Given the description of an element on the screen output the (x, y) to click on. 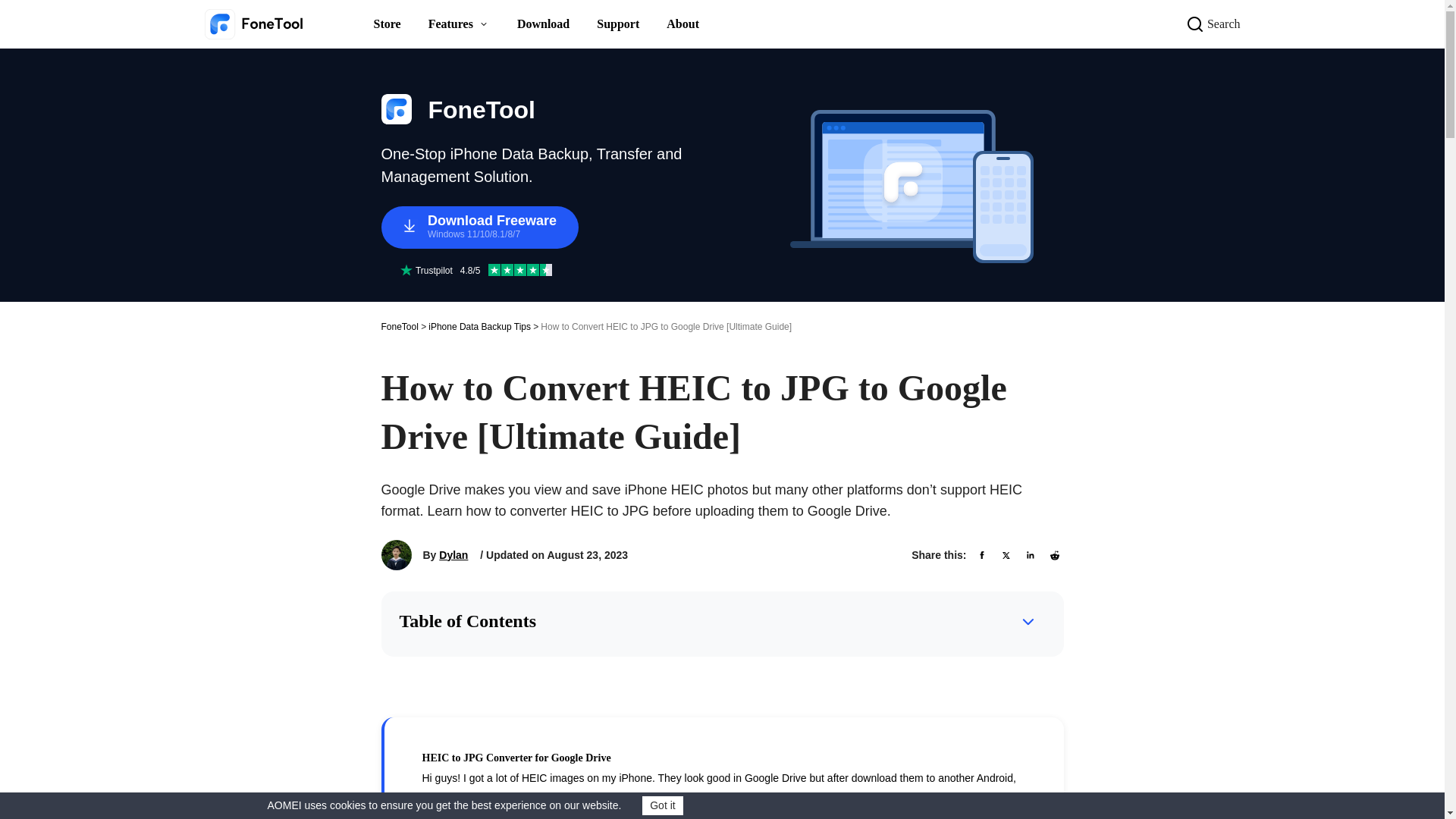
iPhone Data Backup Tips (479, 326)
Download (542, 24)
Dylan (453, 555)
FoneTool (398, 326)
